Given the description of an element on the screen output the (x, y) to click on. 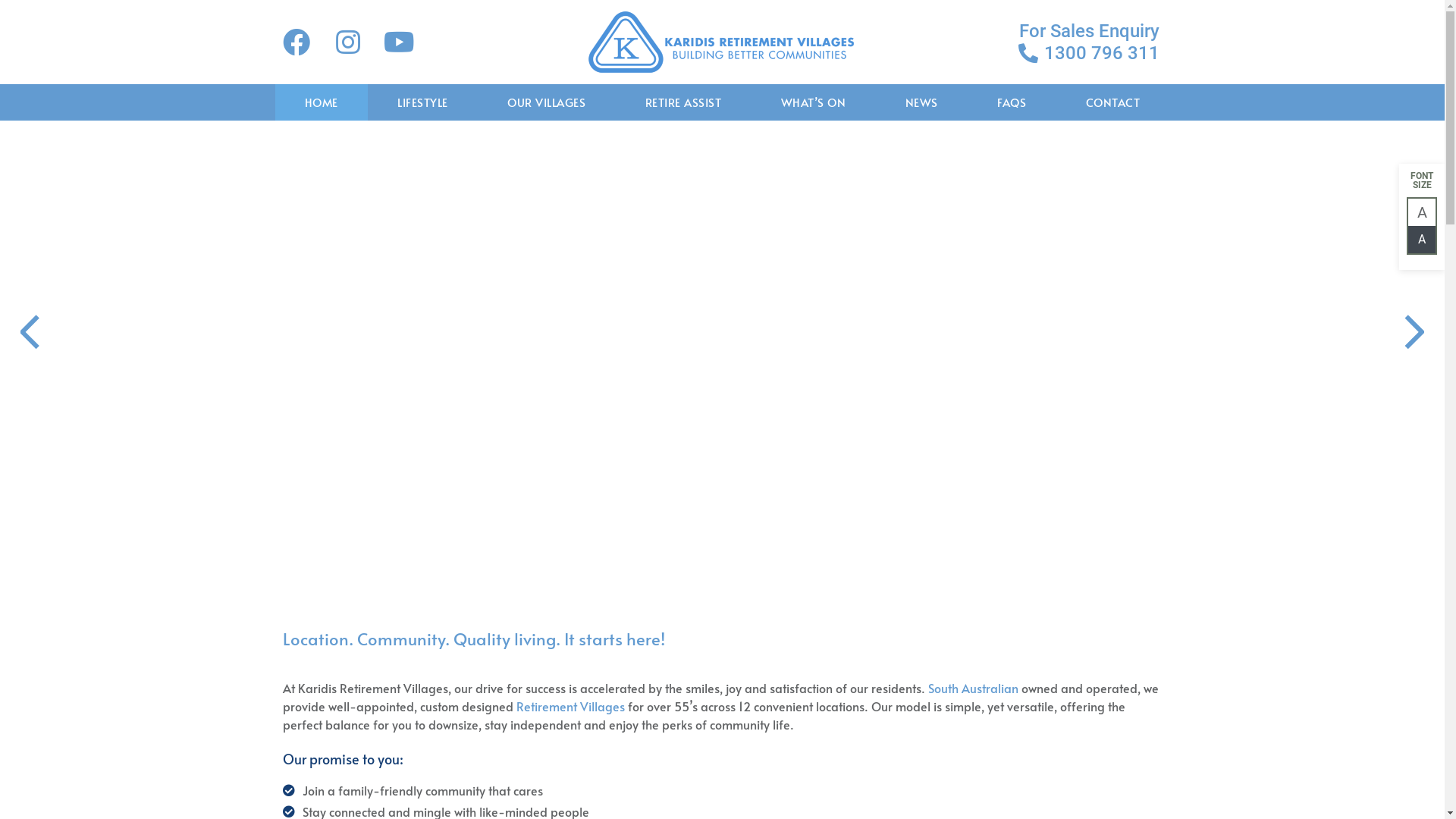
Retirement Villages Element type: text (569, 705)
RETIRE ASSIST Element type: text (683, 102)
For Sales Enquiry Element type: text (1032, 30)
HOME Element type: text (320, 102)
1300 796 311 Element type: text (1032, 52)
FAQS Element type: text (1011, 102)
NEWS Element type: text (921, 102)
LIFESTYLE Element type: text (422, 102)
OUR VILLAGES Element type: text (546, 102)
South Australian Element type: text (973, 687)
CONTACT Element type: text (1112, 102)
